Given the description of an element on the screen output the (x, y) to click on. 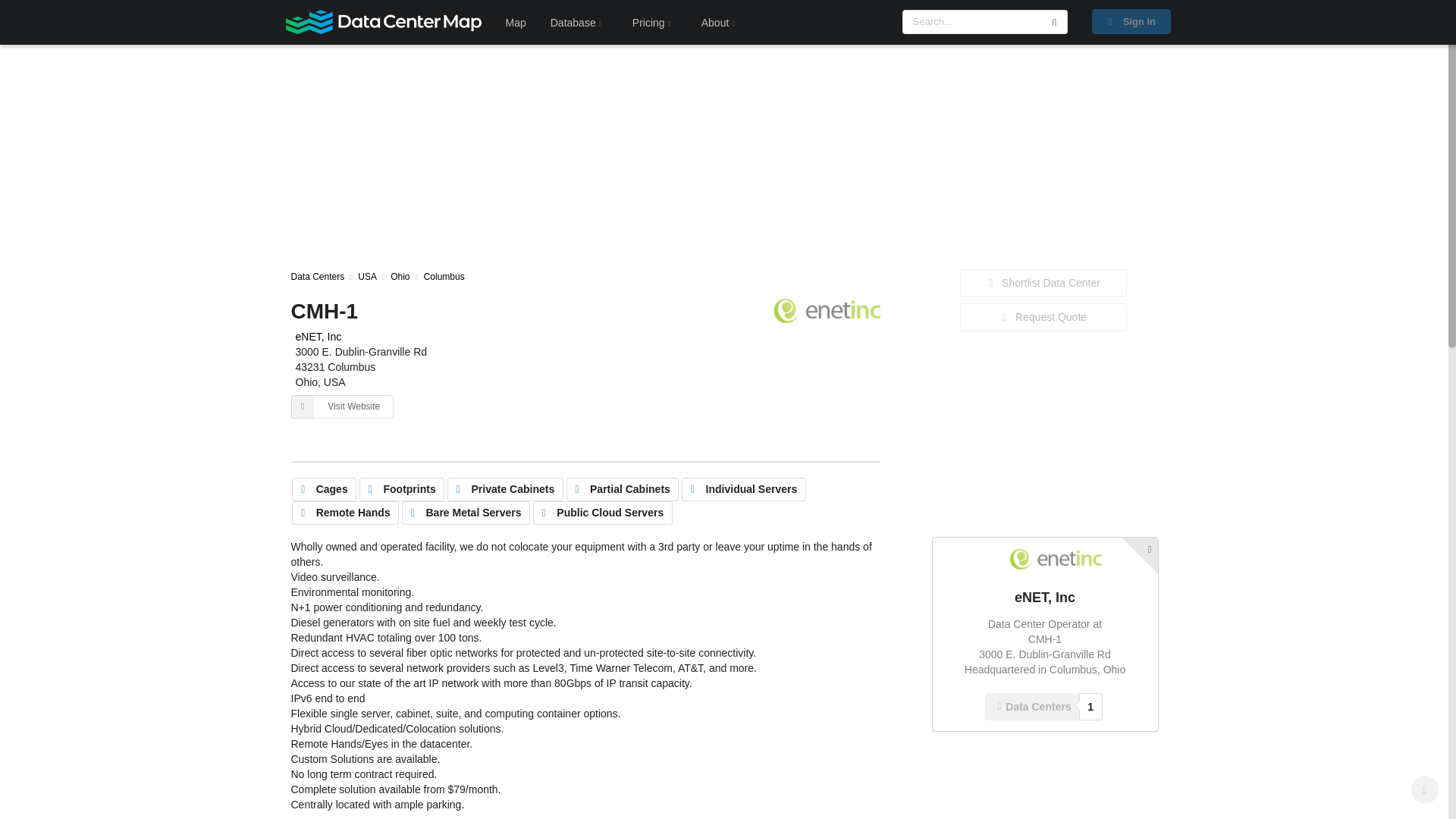
Visit Website (342, 406)
Map (515, 22)
Data Centers (318, 276)
About (721, 22)
Columbus (1045, 706)
USA (443, 276)
Sign In (367, 276)
Ohio (1131, 21)
eNET, Inc (399, 276)
Pricing (318, 336)
Database (654, 22)
Shortlist Data Center (579, 22)
Request Quote (1042, 283)
